Given the description of an element on the screen output the (x, y) to click on. 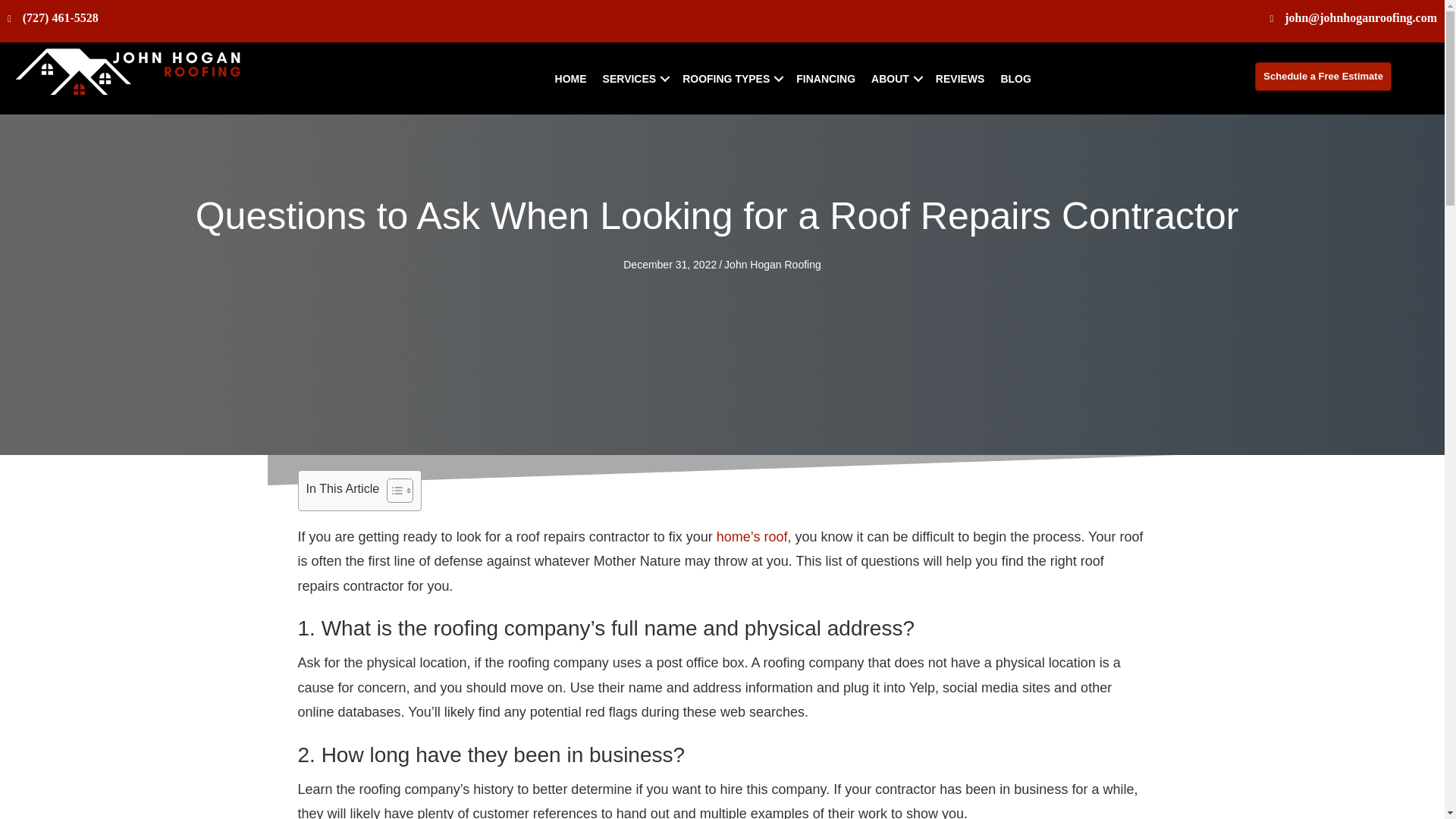
Roofing Financing (826, 78)
About John Hogan Roofing (895, 78)
FINANCING (826, 78)
Roofing Services (635, 78)
REVIEWS (960, 78)
John Hogan Roofing (570, 78)
ROOFING TYPES (731, 78)
Roofing Types (731, 78)
John Hogan Roofing (772, 264)
BLOG (1015, 78)
HOME (570, 78)
Joh Hogan Roofing in Clearwater, Florida (128, 79)
SERVICES (635, 78)
ABOUT (895, 78)
Schedule a Free Estimate (1323, 76)
